Given the description of an element on the screen output the (x, y) to click on. 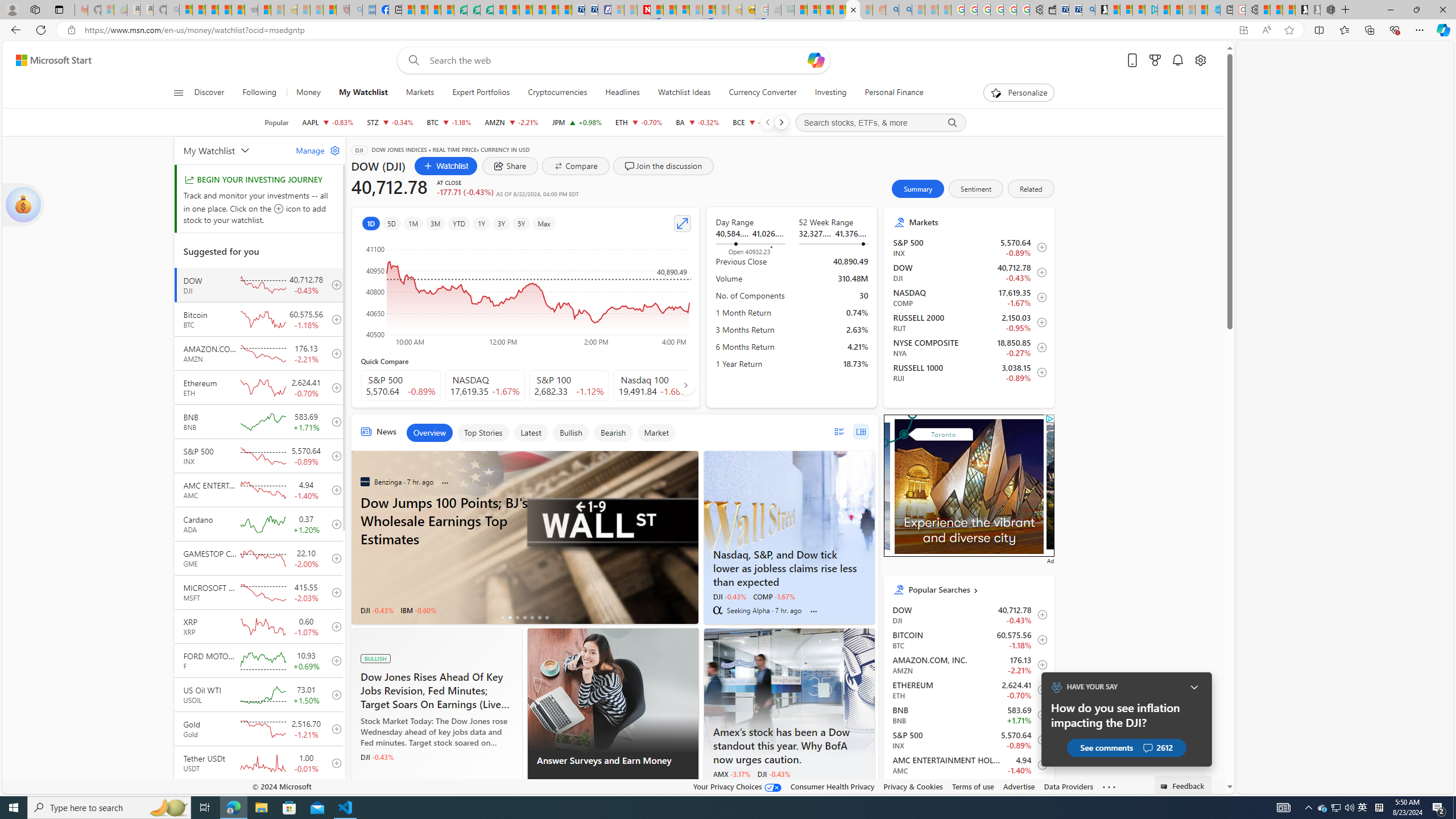
Popular Searches (976, 589)
Markets (976, 222)
Top Stories (483, 432)
Bullish (570, 432)
